Given the description of an element on the screen output the (x, y) to click on. 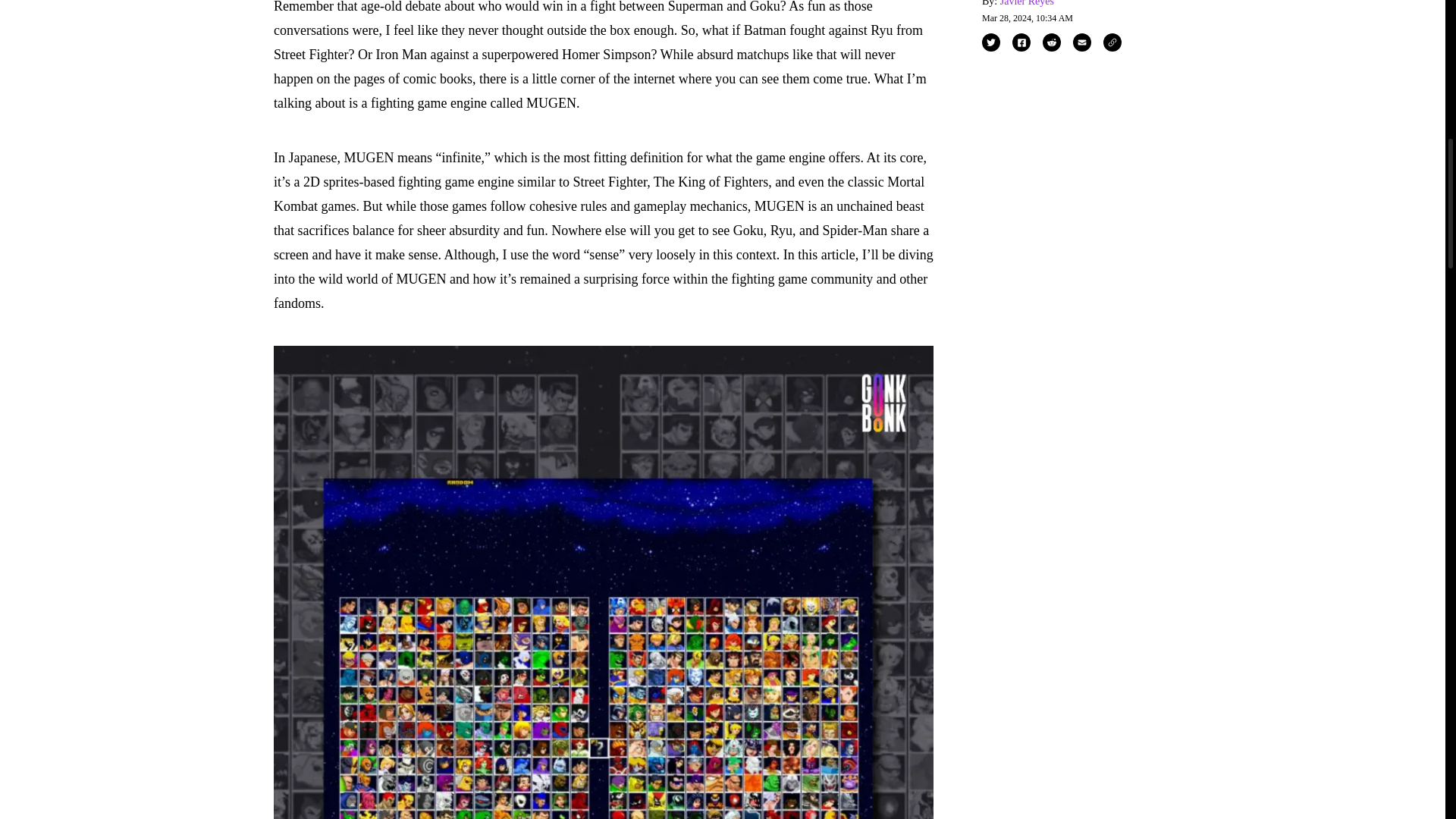
Javier Reyes (1027, 3)
